Given the description of an element on the screen output the (x, y) to click on. 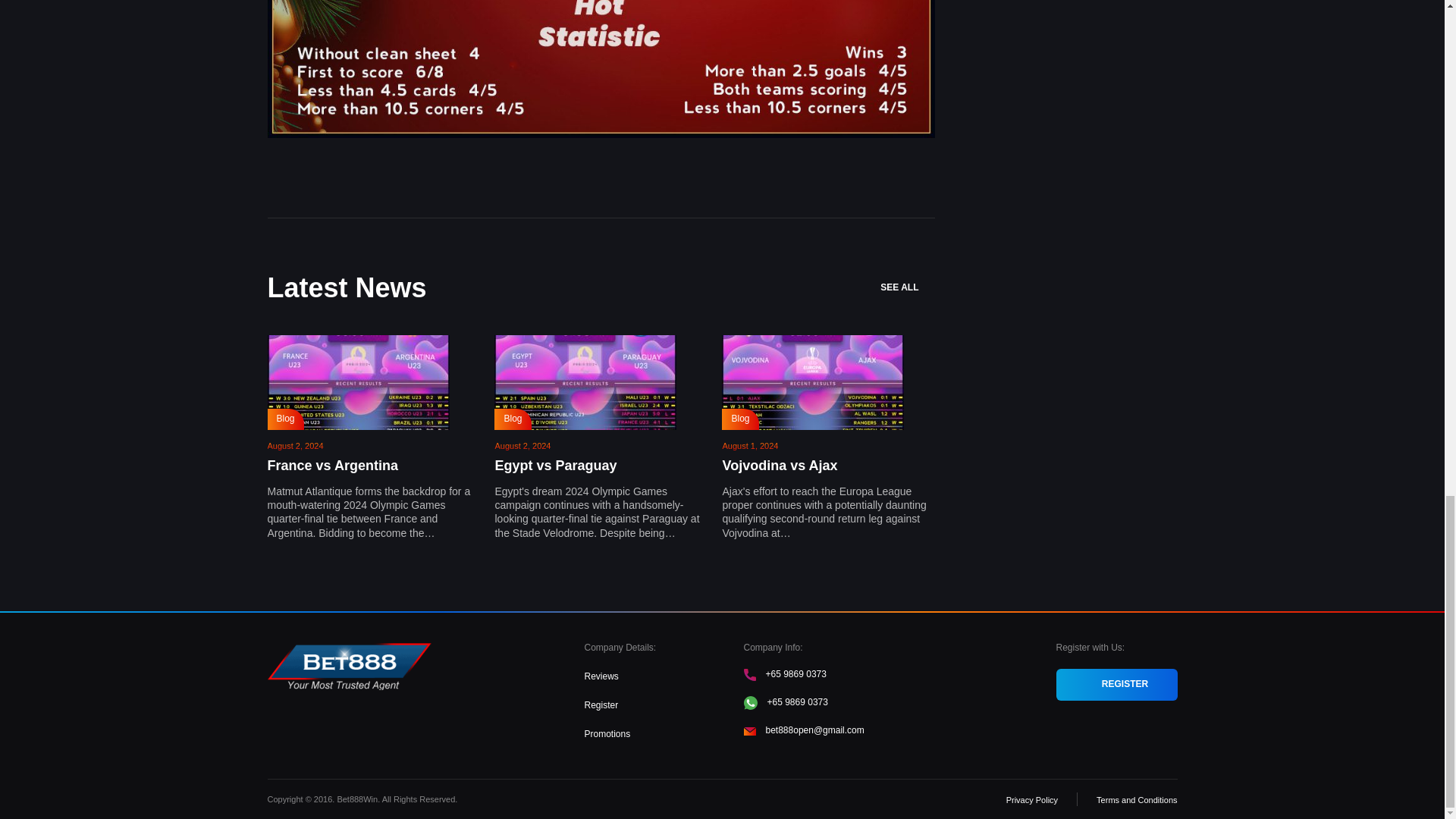
Egypt vs Paraguay (555, 465)
SEE ALL (907, 287)
Promotions (606, 733)
REGISTER (1115, 685)
Reviews (600, 675)
Terms and Conditions (1136, 799)
Register (600, 705)
Vojvodina vs Ajax (779, 465)
France vs Argentina (331, 465)
Privacy Policy (1032, 799)
